Given the description of an element on the screen output the (x, y) to click on. 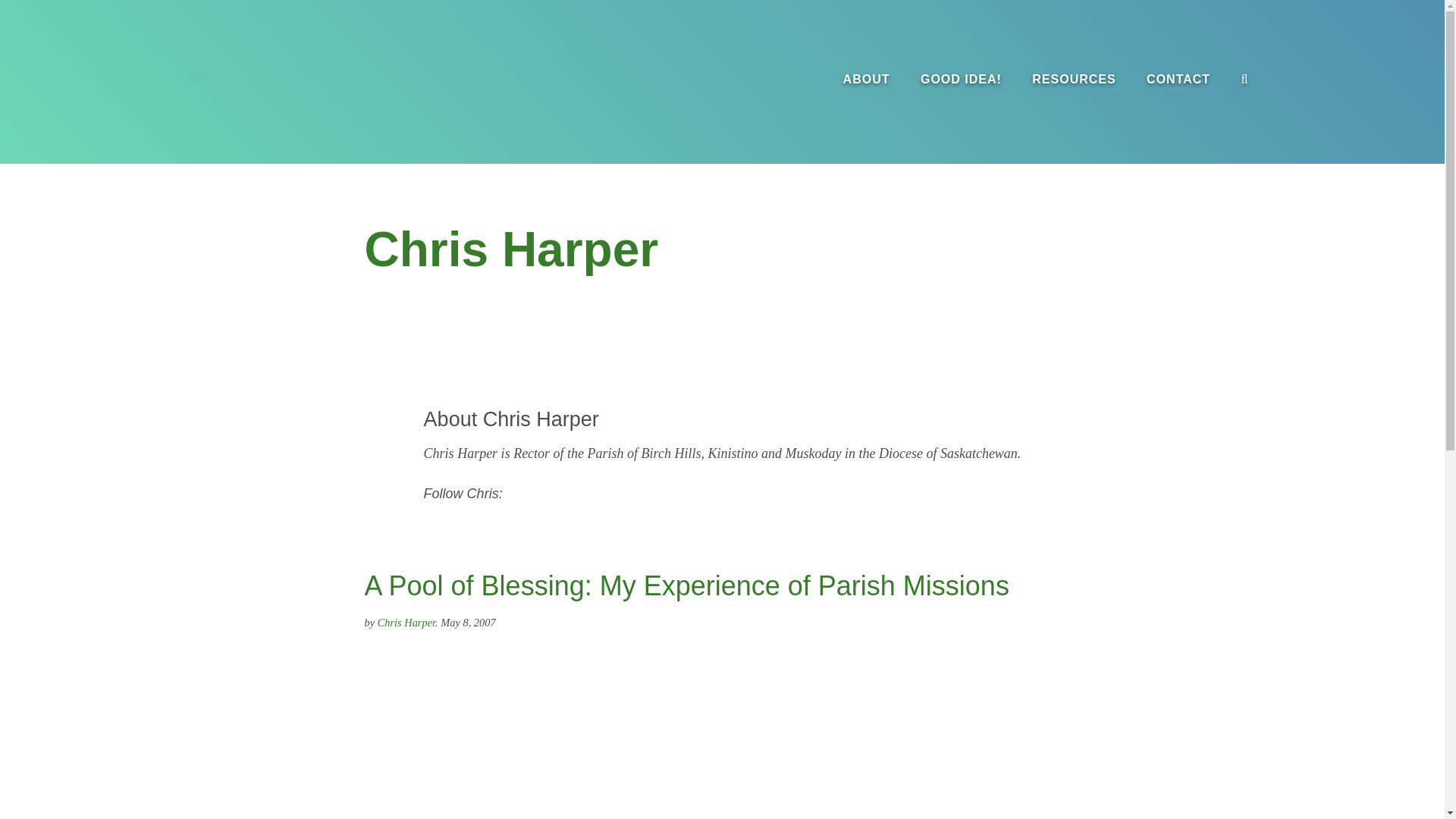
The Institute of Evangelism (166, 79)
RESOURCES (1073, 79)
GOOD IDEA! (960, 79)
CONTACT (1178, 79)
ABOUT (866, 79)
Posts by Chris Harper (406, 622)
A Pool of Blessing: My Experience of Parish Missions (686, 585)
Chris Harper (406, 622)
